Given the description of an element on the screen output the (x, y) to click on. 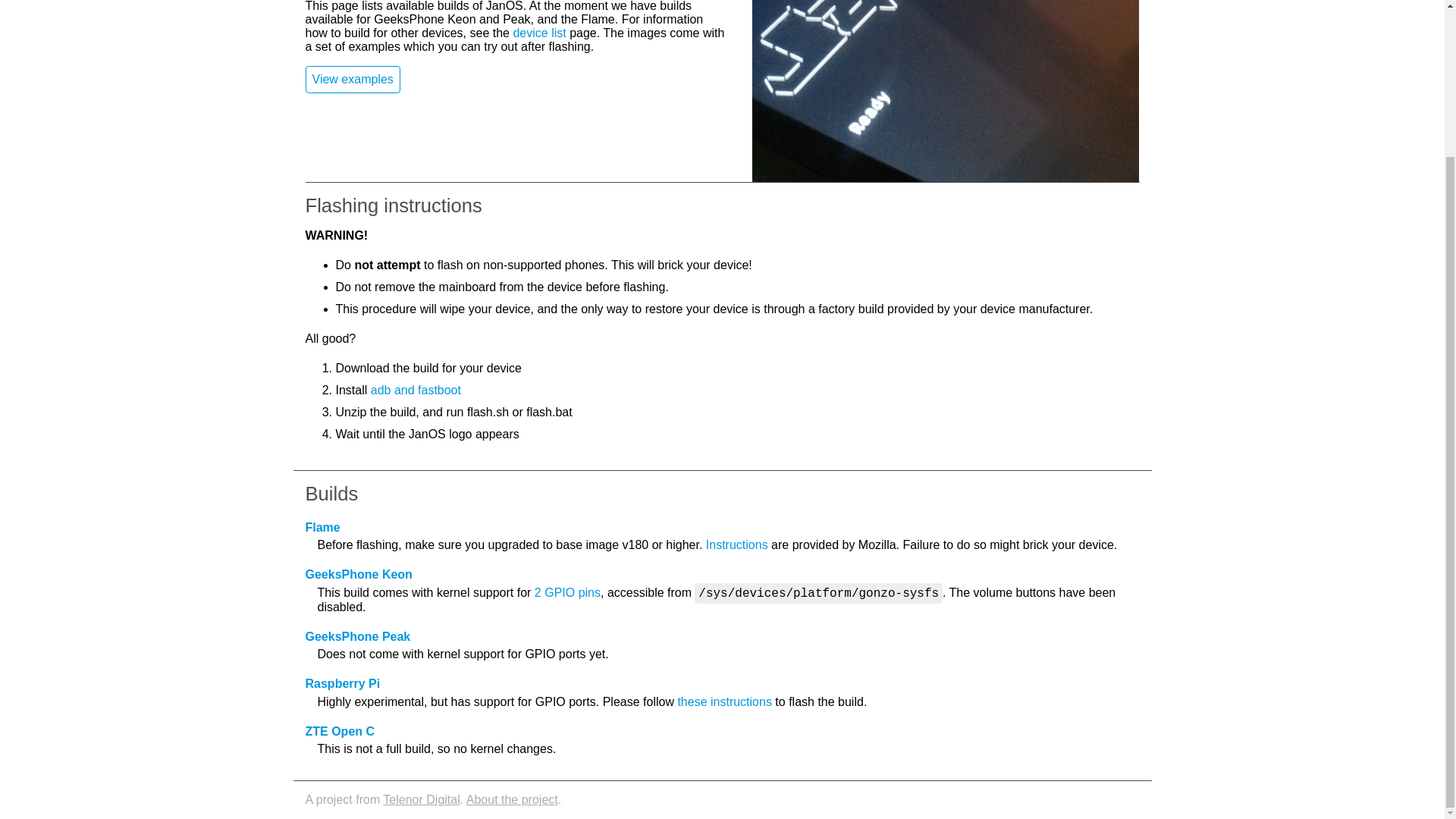
adb and fastboot (416, 390)
Flame (321, 526)
Flame with screen attached after flashing (945, 90)
2 GPIO pins (566, 592)
Instructions (737, 544)
About the project (511, 799)
GeeksPhone Keon (358, 574)
View examples (351, 79)
Raspberry Pi (342, 683)
Telenor Digital (421, 799)
these instructions (724, 701)
device list (539, 32)
ZTE Open C (339, 730)
GeeksPhone Peak (357, 635)
